Given the description of an element on the screen output the (x, y) to click on. 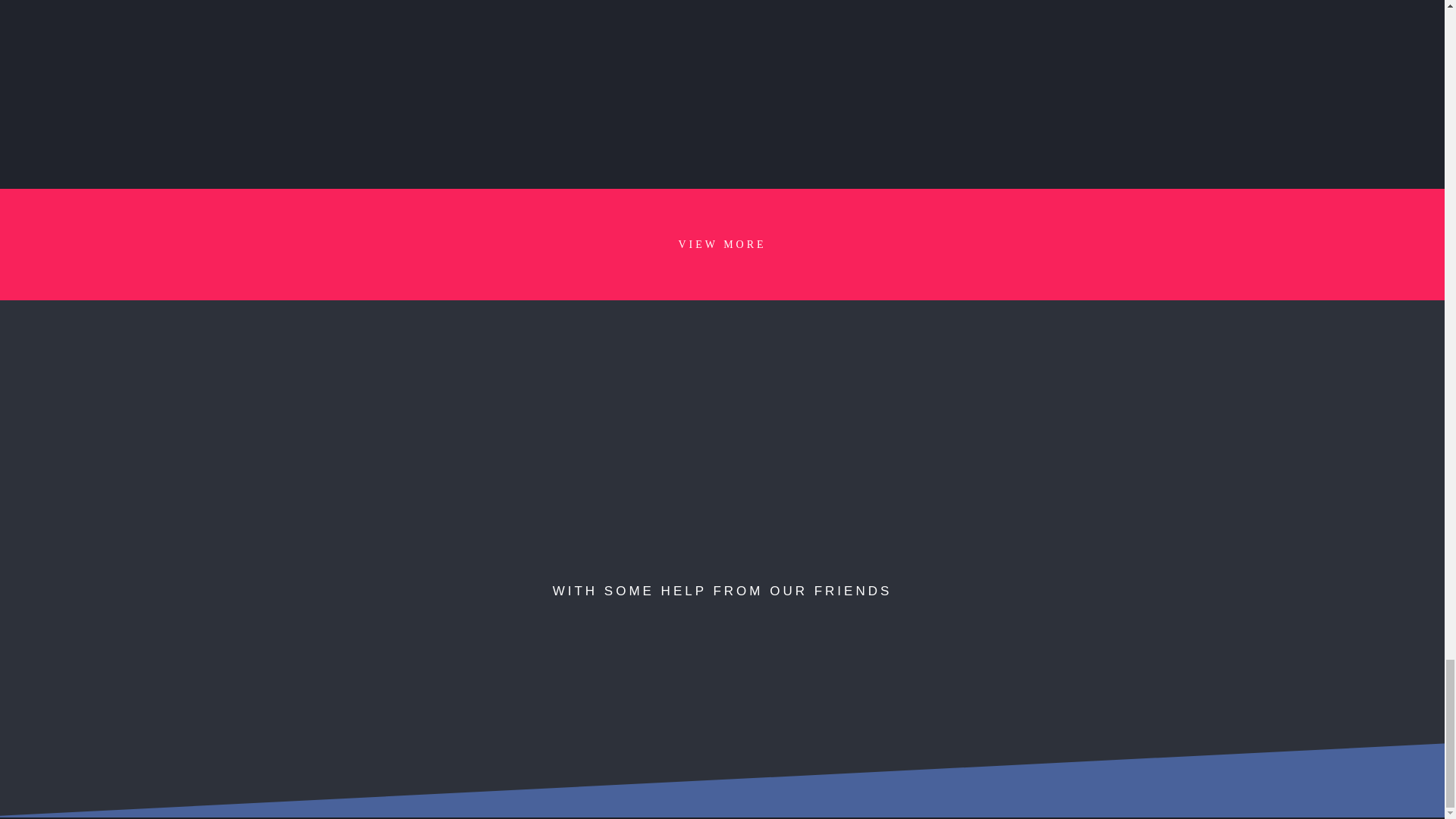
quotes (722, 447)
